Given the description of an element on the screen output the (x, y) to click on. 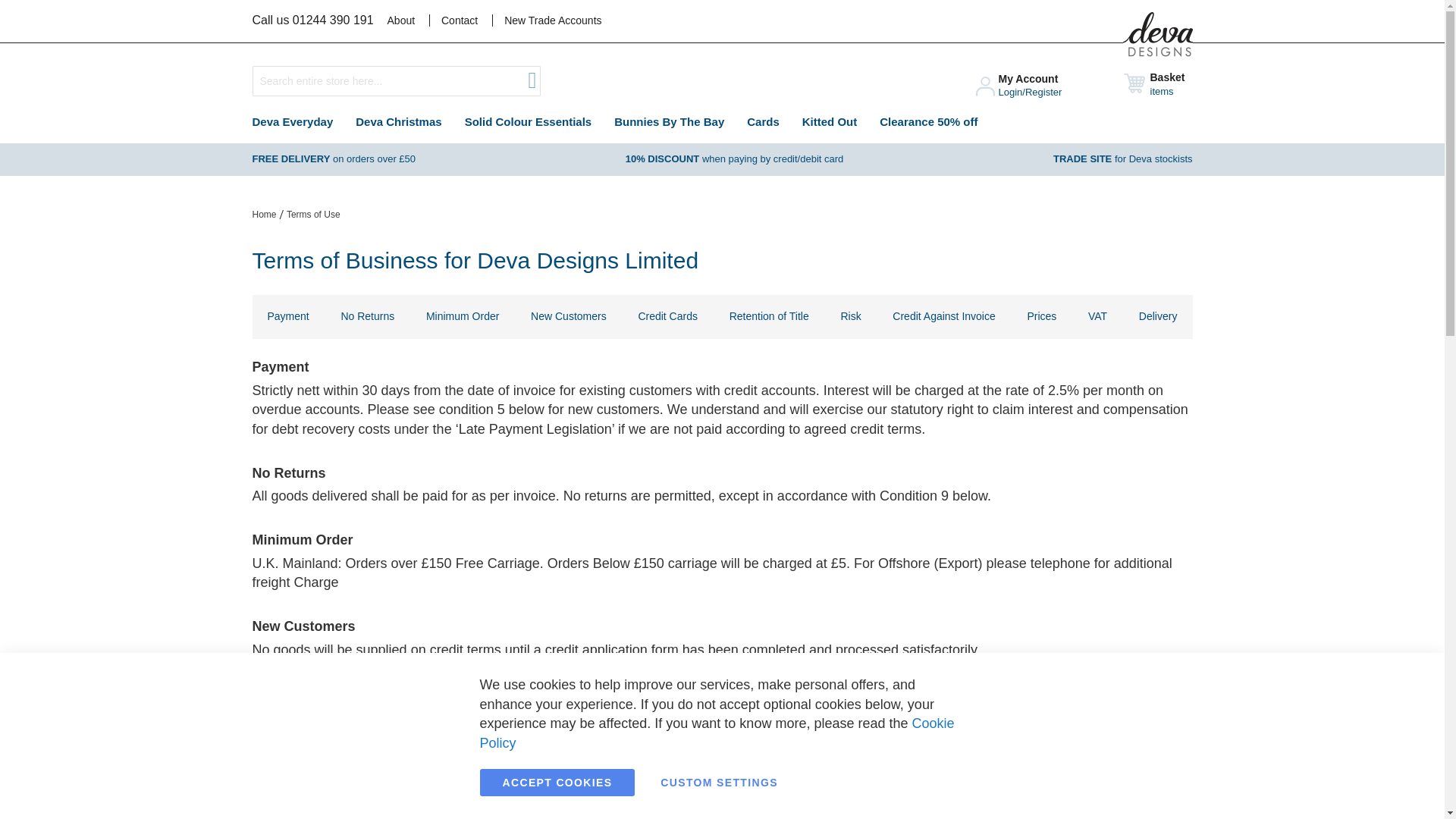
Deva Christmas (397, 121)
Deva Everyday (293, 121)
Contact (459, 20)
New Trade Accounts (552, 20)
Solid Colour Essentials (528, 121)
About (406, 20)
Deva Designs (1157, 34)
Deva Everyday (293, 121)
